Given the description of an element on the screen output the (x, y) to click on. 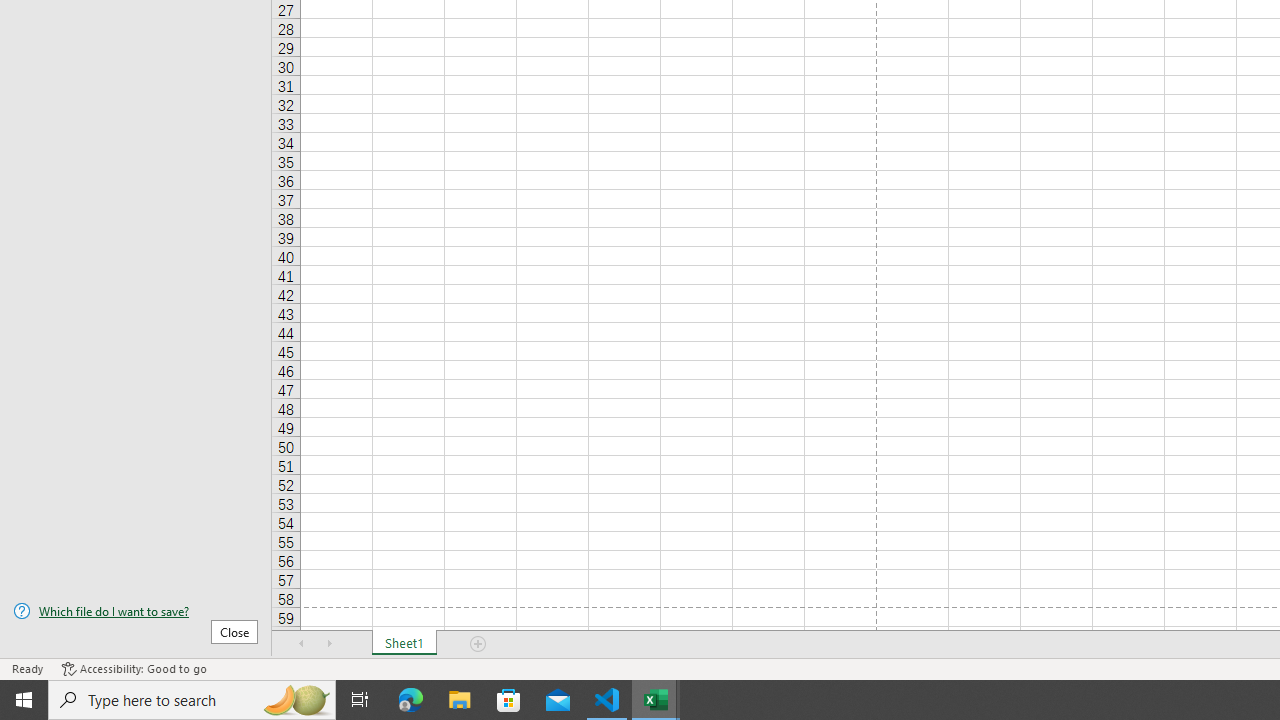
File Explorer (460, 699)
